Given the description of an element on the screen output the (x, y) to click on. 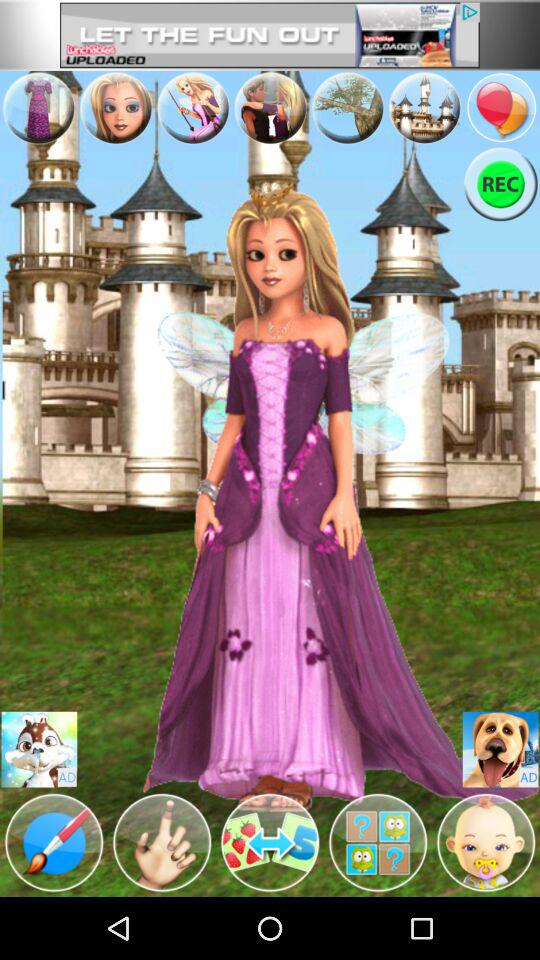
open options (270, 107)
